Given the description of an element on the screen output the (x, y) to click on. 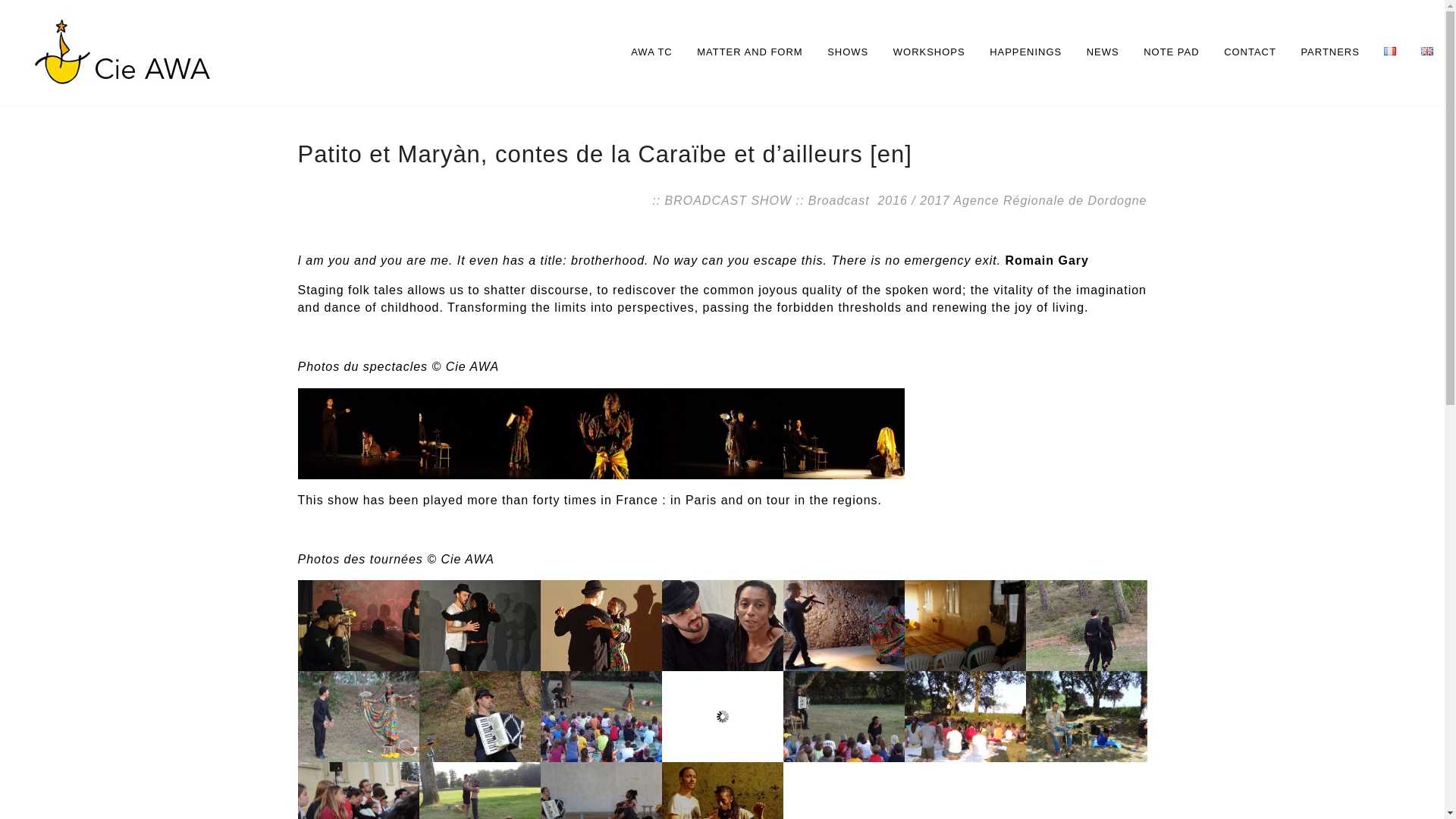
NEWS (1102, 53)
PARTNERS (1329, 53)
SHOWS (847, 53)
WORKSHOPS (929, 53)
CONTACT (1250, 53)
AWA TC (651, 53)
NOTE PAD (1170, 53)
MATTER AND FORM (749, 53)
HAPPENINGS (1025, 53)
